Given the description of an element on the screen output the (x, y) to click on. 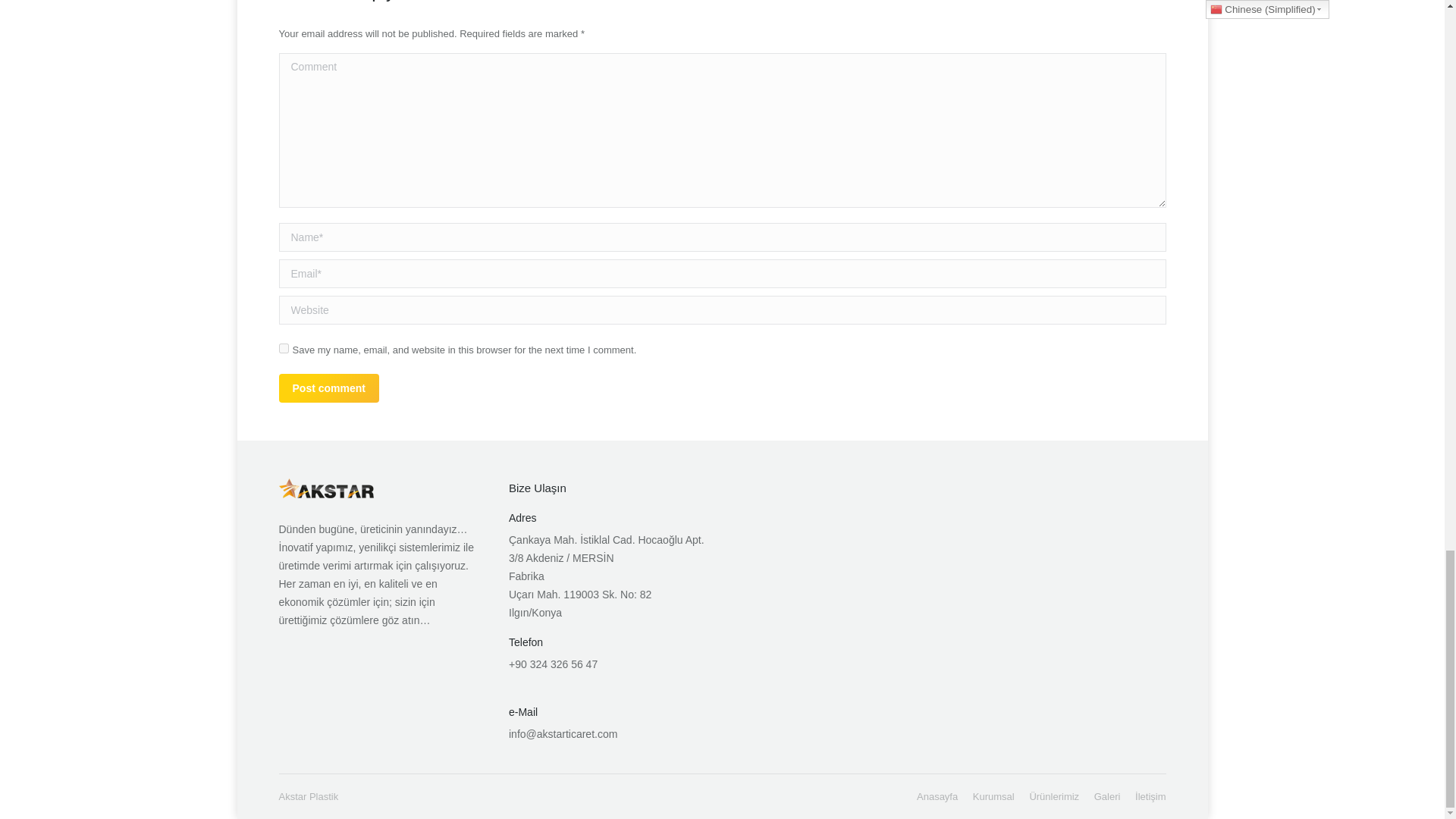
yes (283, 347)
